Given the description of an element on the screen output the (x, y) to click on. 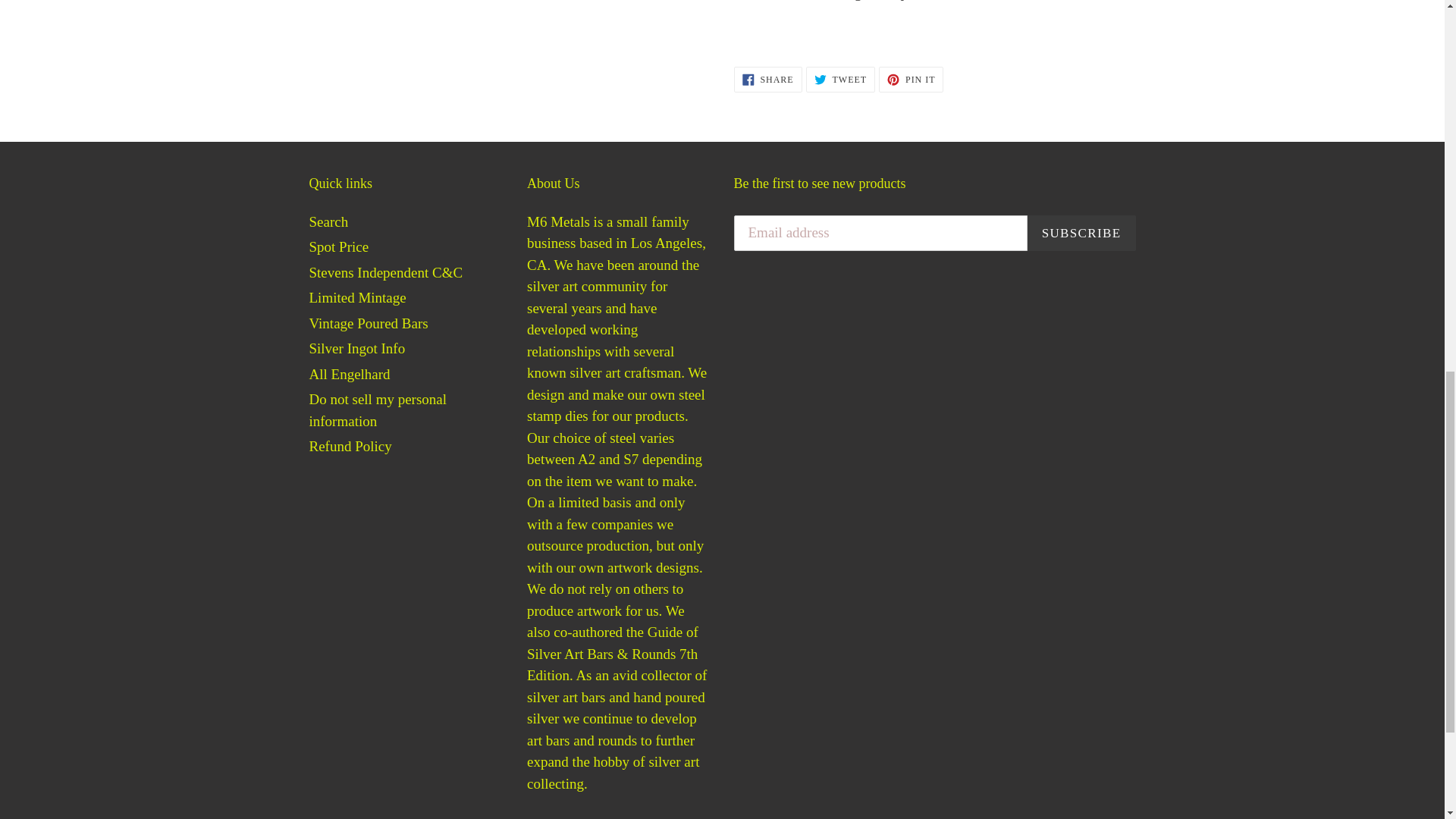
Do not sell my personal information (767, 79)
Vintage Poured Bars (377, 410)
All Engelhard (368, 323)
Search (911, 79)
Limited Mintage (349, 374)
Silver Ingot Info (328, 221)
Spot Price (357, 297)
